Given the description of an element on the screen output the (x, y) to click on. 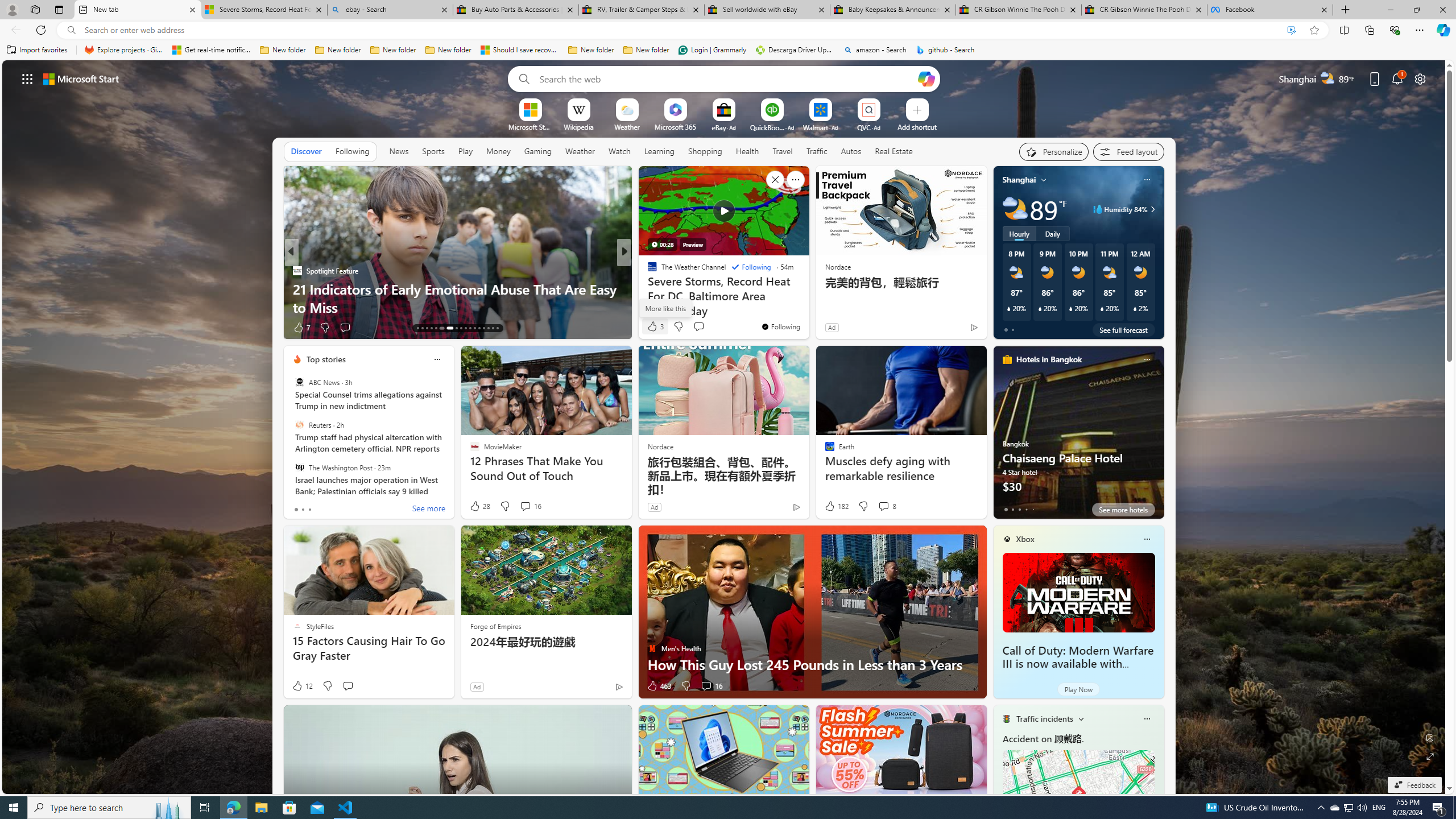
Spotlight Feature (296, 270)
My location (1043, 179)
21 Indicators of Early Emotional Abuse That Are Easy to Miss (457, 298)
TheStreet (647, 288)
Import favorites (36, 49)
Shopping (705, 151)
99 Like (652, 327)
Play Now (1078, 689)
Top stories (325, 359)
